Given the description of an element on the screen output the (x, y) to click on. 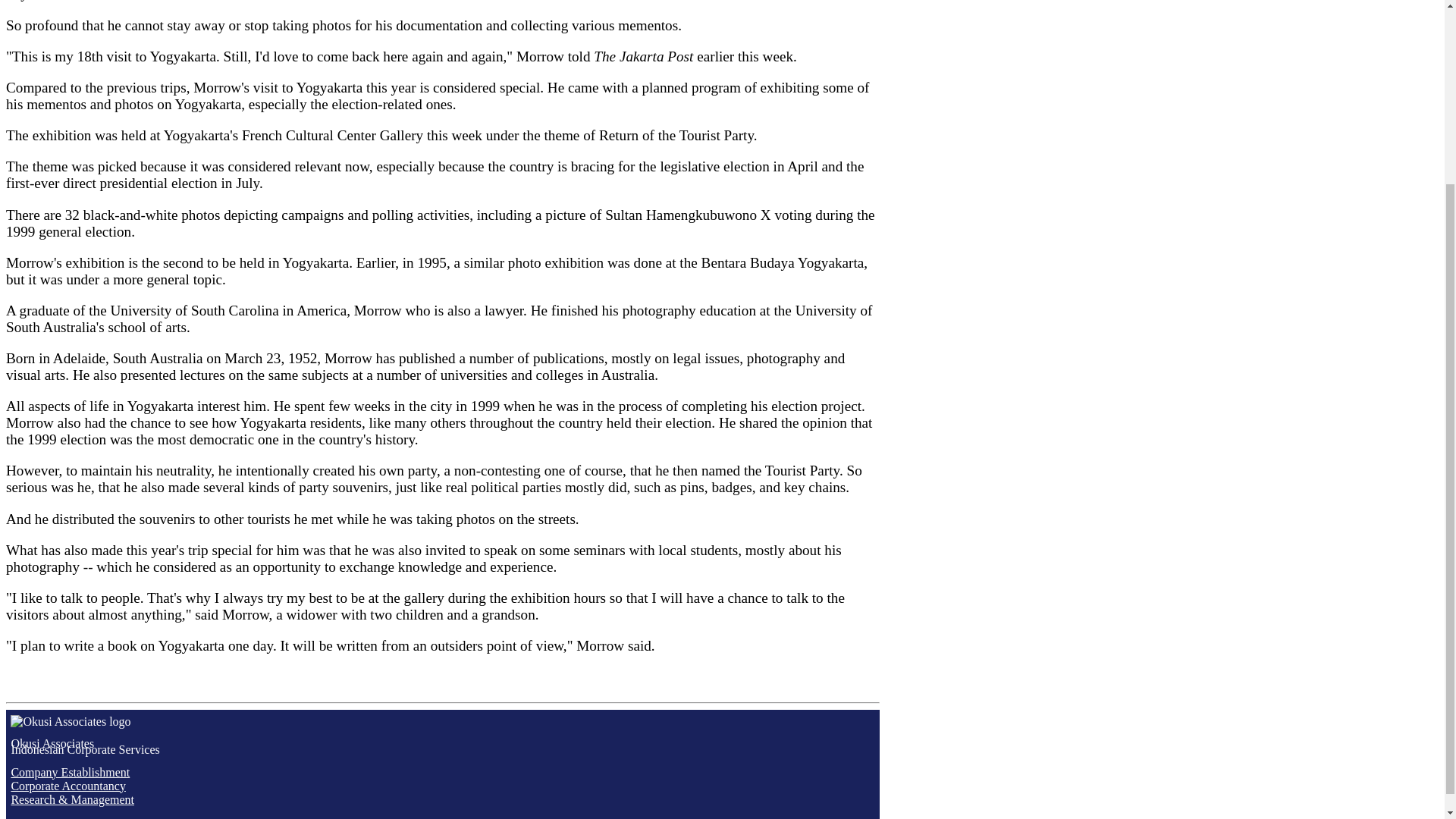
Okusi Associates - Jakarta - Batam - Bali (442, 746)
Company Establishment (69, 771)
Corporate Accountancy (442, 746)
Indonesian Company Establishment (67, 785)
Indonesian Corporate Accountancy (69, 771)
